Given the description of an element on the screen output the (x, y) to click on. 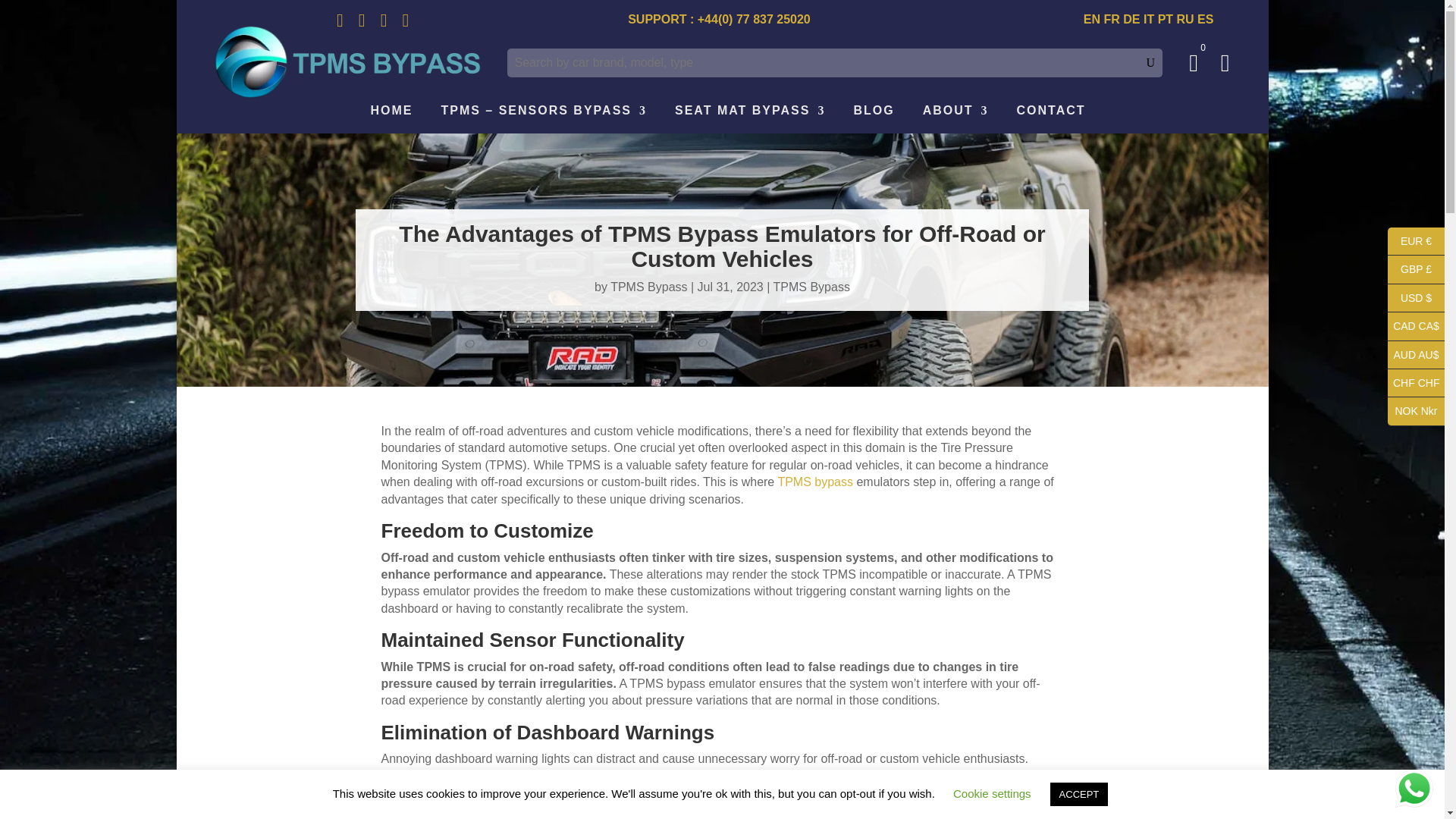
ES (1204, 19)
FR (1111, 19)
Seat Occupancy Mat Bypass Shop (744, 113)
English (1091, 19)
DE (1131, 19)
TPMS BYPASS - Tyre Pressure Sensor Bypass (347, 62)
RU (1184, 19)
Blog (867, 113)
Russian (1184, 19)
PT (1165, 19)
SEAT MAT BYPASS (744, 113)
German (1131, 19)
EN (1091, 19)
ABOUT (949, 113)
